Given the description of an element on the screen output the (x, y) to click on. 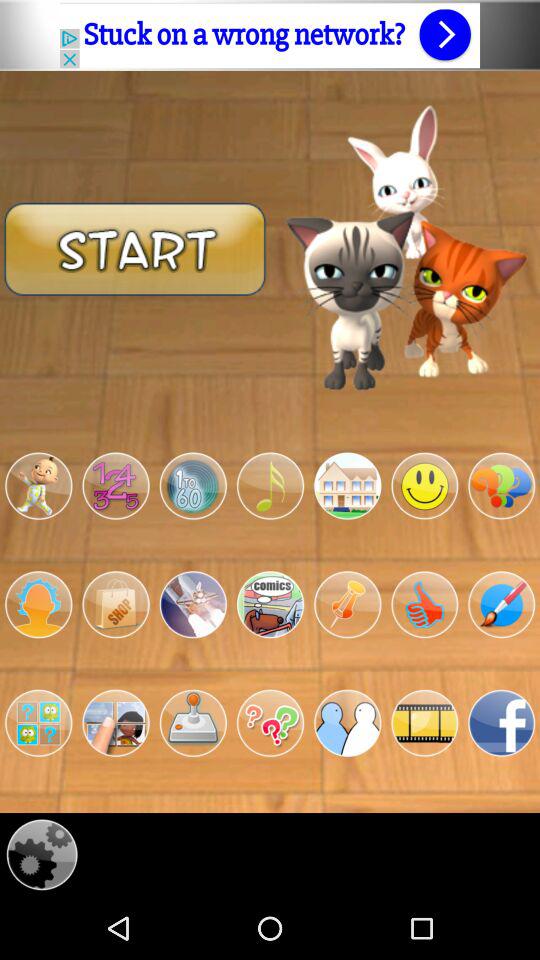
facebook (501, 723)
